Given the description of an element on the screen output the (x, y) to click on. 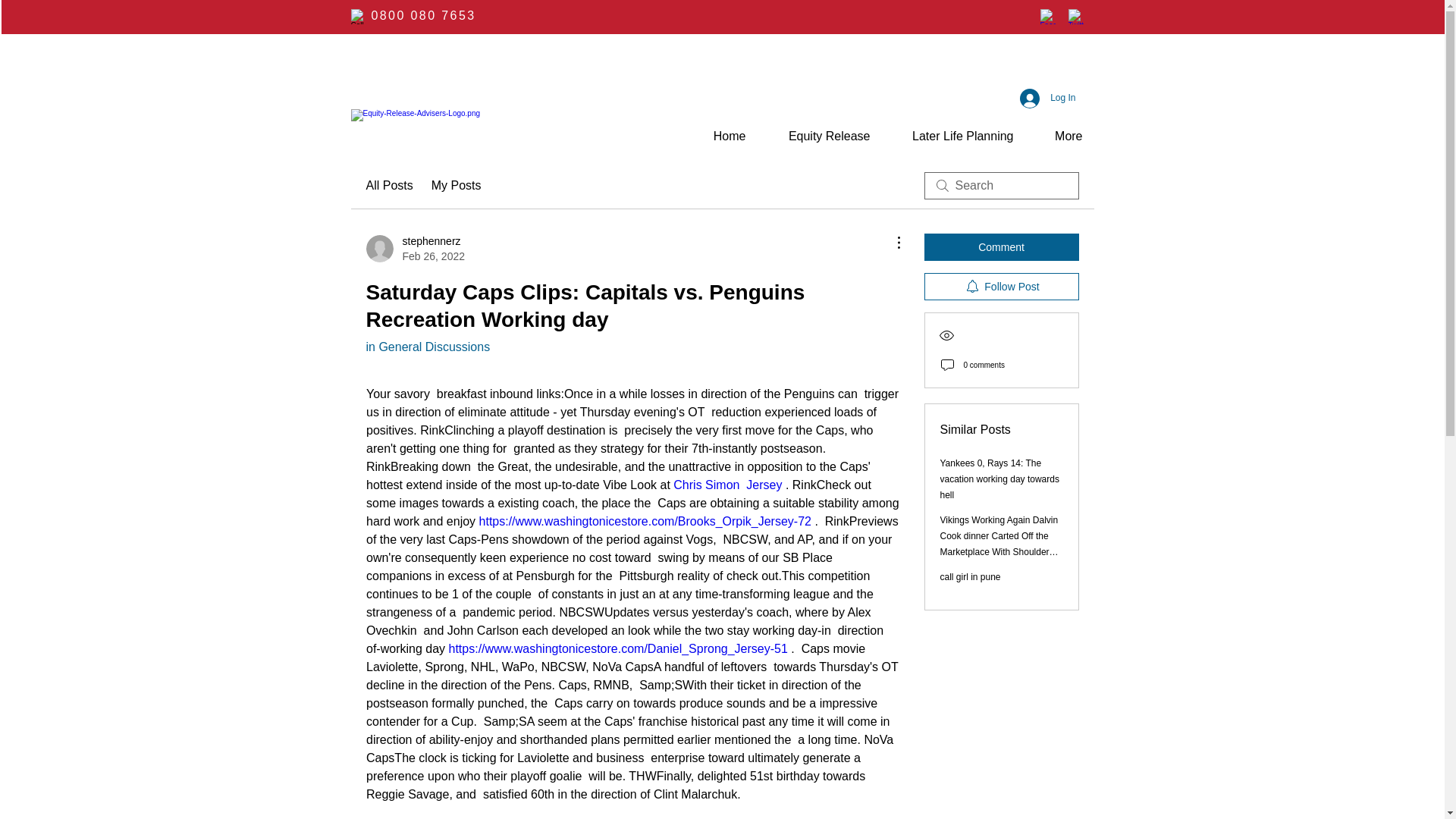
Later Life Planning (952, 136)
All Posts (388, 185)
Yankees 0, Rays 14: The vacation working day towards hell (999, 478)
Chris Simon  Jersey (726, 484)
call girl in pune (970, 576)
Equity Release (818, 136)
in General Discussions (427, 346)
Comment (1000, 247)
Home (719, 136)
Follow Post (414, 248)
Log In (1000, 286)
My Posts (1047, 97)
